Given the description of an element on the screen output the (x, y) to click on. 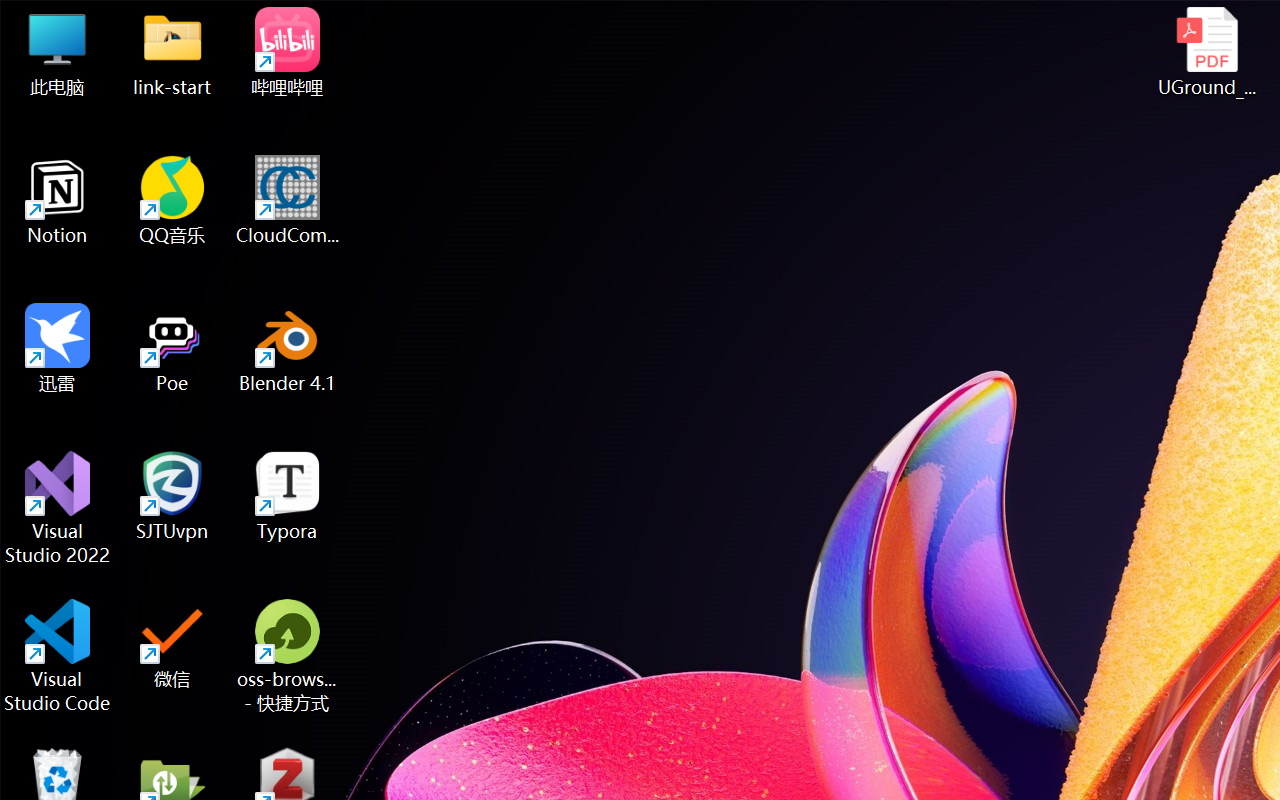
CloudCompare (287, 200)
Typora (287, 496)
UGround_paper.pdf (1206, 52)
SJTUvpn (172, 496)
Visual Studio 2022 (57, 508)
Blender 4.1 (287, 348)
Visual Studio Code (57, 656)
